Given the description of an element on the screen output the (x, y) to click on. 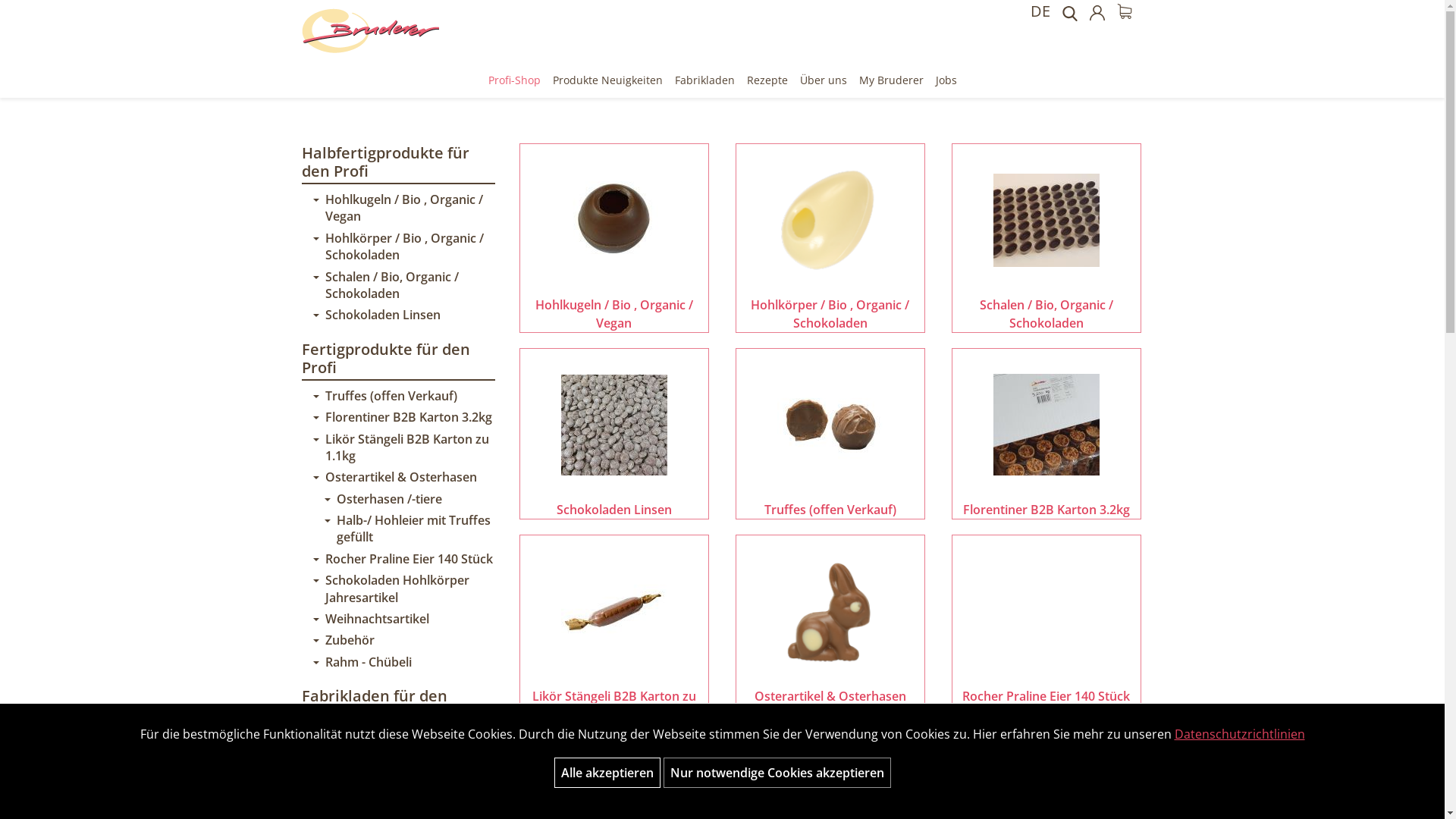
Hohlkugeln / Bio , Organic / Vegan Element type: text (403, 207)
Nur notwendige Cookies akzeptieren Element type: text (776, 772)
Rezepte Element type: text (766, 79)
Geschenkpackungen Element type: text (403, 785)
Truffes Element type: text (403, 742)
Schalen / Bio, Organic / Schokoladen Element type: text (1046, 237)
Jobs Element type: text (946, 79)
Florentiner B2B Karton 3.2kg Element type: text (1046, 433)
Weihnachtsartikel Element type: text (403, 618)
Alle akzeptieren Element type: text (606, 772)
Truffes (offen Verkauf) Element type: text (830, 433)
Florentiner B2B Karton 3.2kg Element type: text (403, 416)
Schokoladen Linsen Element type: text (403, 314)
Hohlkugeln / Bio , Organic / Vegan Element type: text (614, 237)
Datenschutzrichtlinien Element type: text (1238, 733)
Osterhasen /-tiere Element type: text (409, 498)
Osterartikel & Osterhasen Element type: text (403, 476)
Schalen / Bio, Organic / Schokoladen Element type: text (403, 285)
Produkte Neuigkeiten Element type: text (607, 79)
Osterartikel & Osterhasen Element type: text (830, 629)
Schokoladen Linsen Element type: text (614, 433)
Bruderer Chocolat Suisse Logo, zur Startseite Element type: hover (370, 32)
My Bruderer Element type: text (890, 79)
Truffes (offen Verkauf) Element type: text (403, 395)
Florentiner Element type: text (403, 806)
Fabrikladen Element type: text (704, 79)
